Given the description of an element on the screen output the (x, y) to click on. 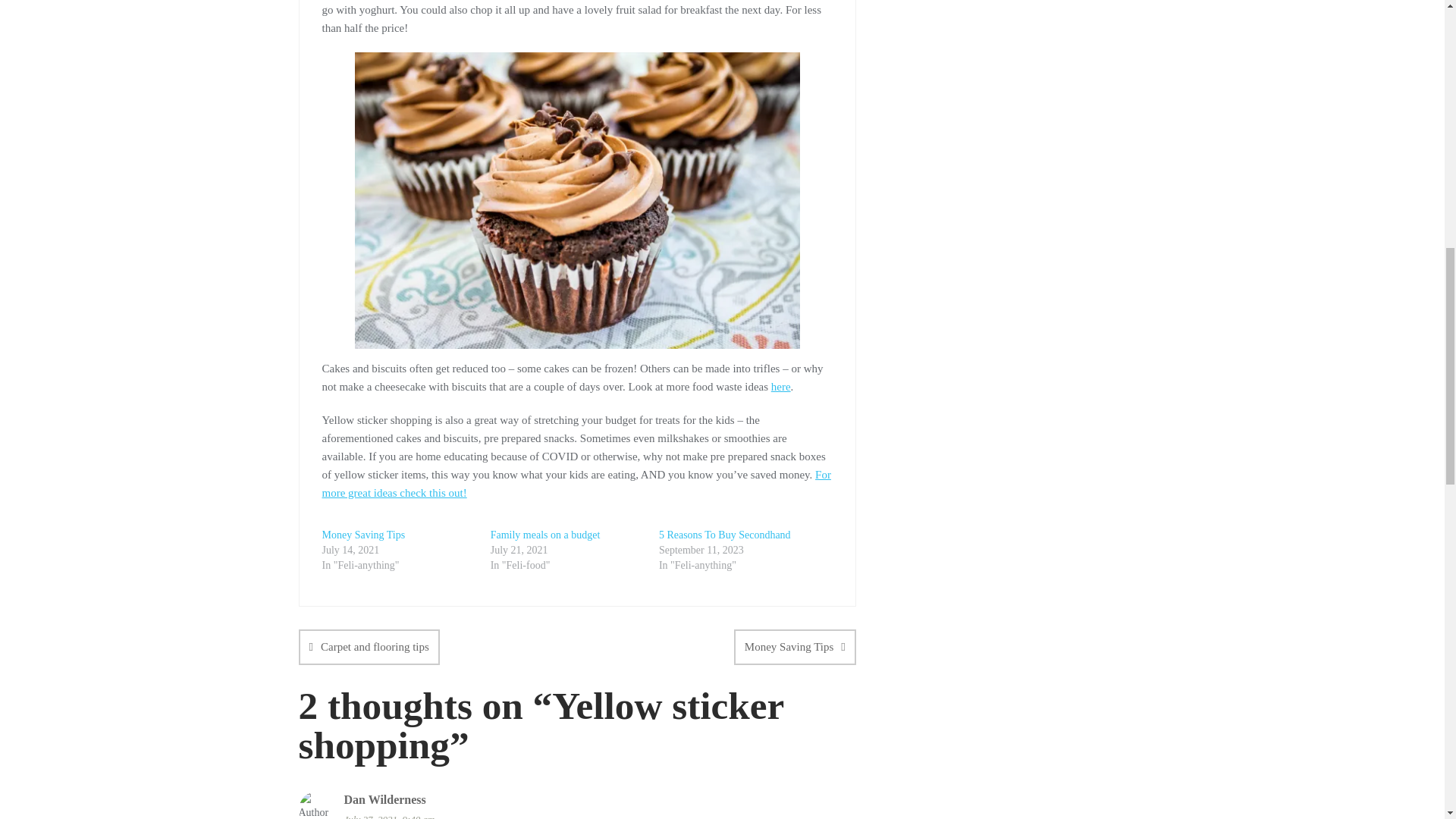
Family meals on a budget (544, 534)
Money Saving Tips (362, 534)
5 Reasons To Buy Secondhand (724, 534)
here (780, 386)
For more great ideas check this out! (575, 483)
Money Saving Tips (794, 647)
July 27, 2021, 9:40 am (599, 814)
Dan Wilderness (384, 799)
Family meals on a budget (544, 534)
Carpet and flooring tips (368, 647)
